Given the description of an element on the screen output the (x, y) to click on. 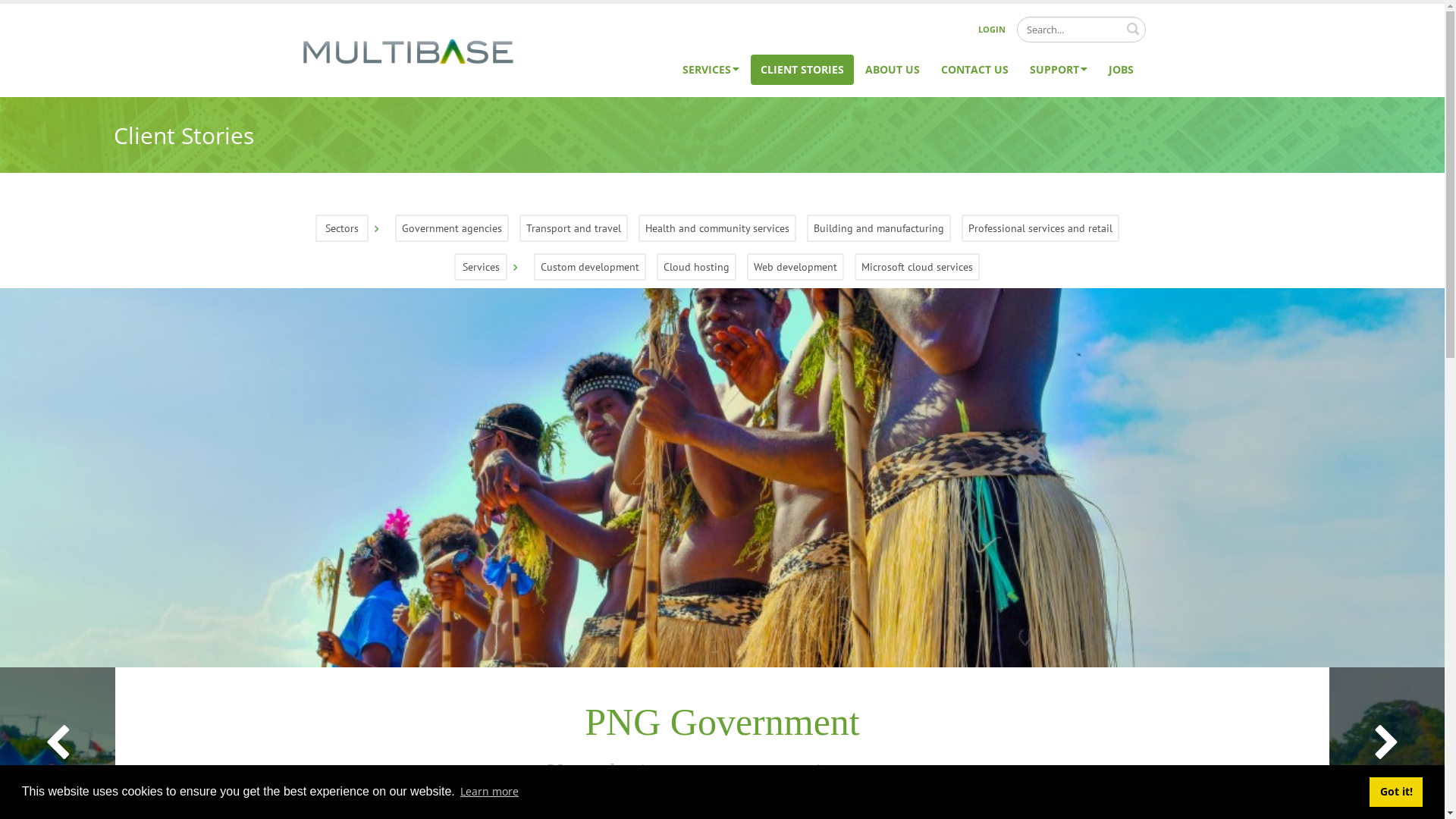
SUPPORT Element type: text (1057, 69)
Sectors Element type: text (341, 227)
JOBS Element type: text (1120, 69)
Professional services and retail Element type: text (1040, 227)
Microsoft cloud services Element type: text (916, 266)
Government agencies Element type: text (451, 227)
CLIENT STORIES Element type: text (801, 69)
Cloud hosting Element type: text (696, 266)
LOGIN Element type: text (991, 29)
Expand/Collapse Element type: hover (514, 264)
Search Element type: text (1132, 28)
Health and community services Element type: text (717, 227)
SERVICES Element type: text (709, 69)
ABOUT US Element type: text (892, 69)
Transport and travel Element type: text (572, 227)
Multibase Technologies Element type: hover (407, 48)
Learn more Element type: text (489, 791)
Got it! Element type: text (1395, 791)
CONTACT US Element type: text (974, 69)
Custom development Element type: text (589, 266)
Services Element type: text (480, 266)
Building and manufacturing Element type: text (878, 227)
Web development Element type: text (795, 266)
Expand/Collapse Element type: hover (375, 225)
Clear search text Element type: hover (1131, 27)
